Given the description of an element on the screen output the (x, y) to click on. 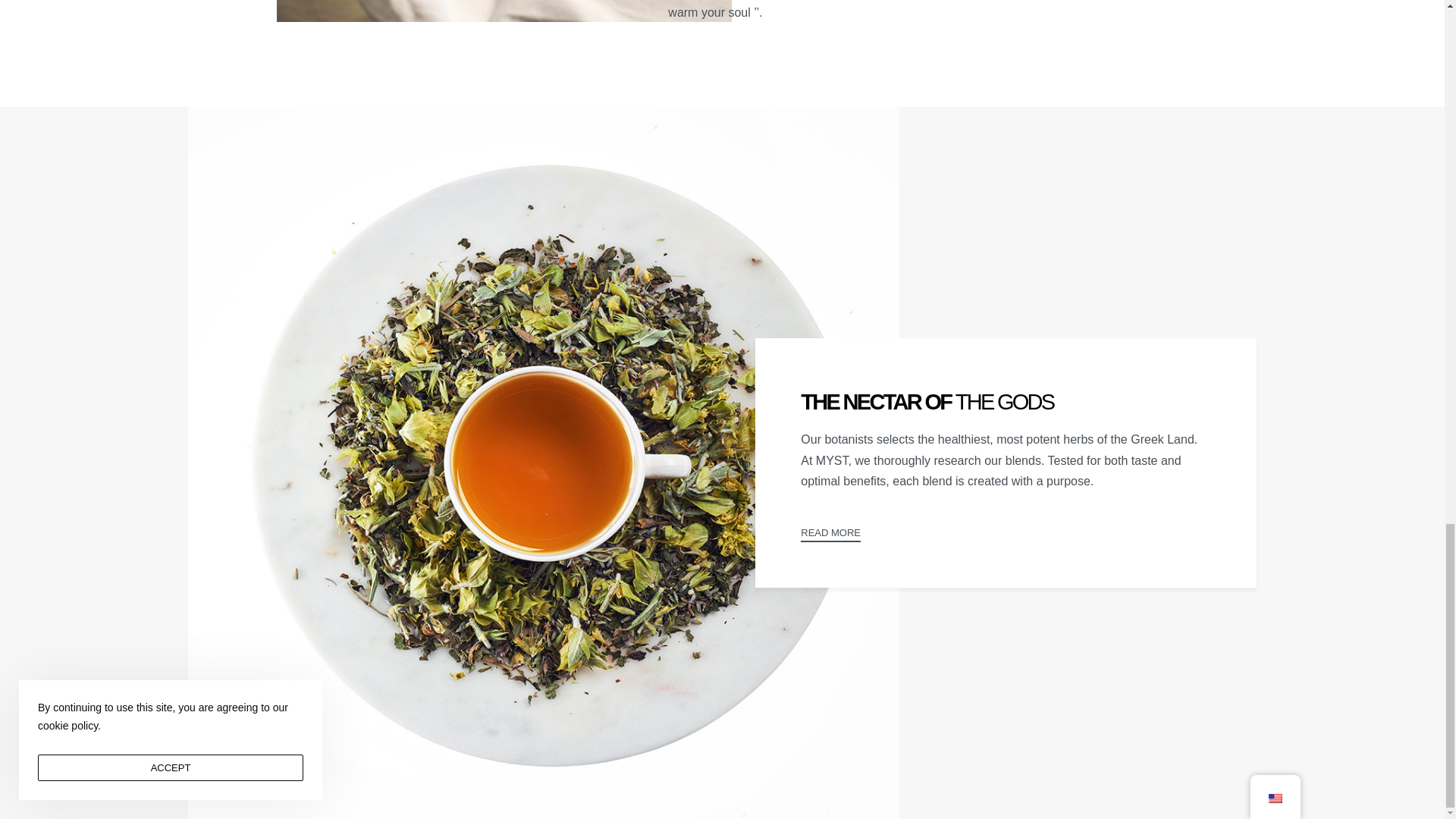
RELAX-TEAmyst (503, 11)
READ MORE (830, 534)
